Given the description of an element on the screen output the (x, y) to click on. 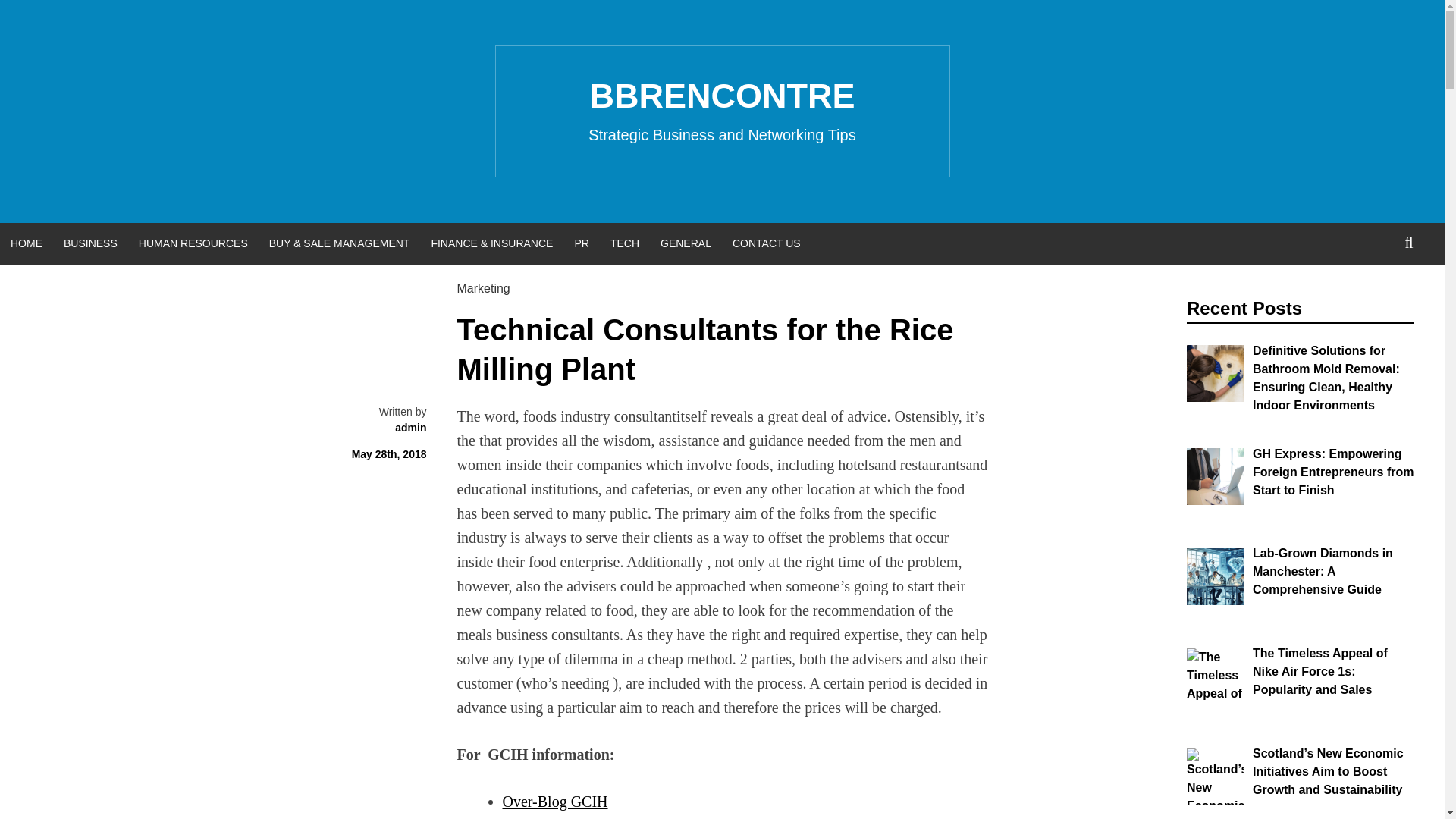
Marketing (483, 287)
Lab-Grown Diamonds in Manchester: A Comprehensive Guide (1322, 571)
GENERAL (685, 243)
Over-Blog GCIH (554, 801)
BUSINESS (90, 243)
BBRENCONTRE (721, 95)
SEARCH (1409, 242)
HUMAN RESOURCES (193, 243)
